Given the description of an element on the screen output the (x, y) to click on. 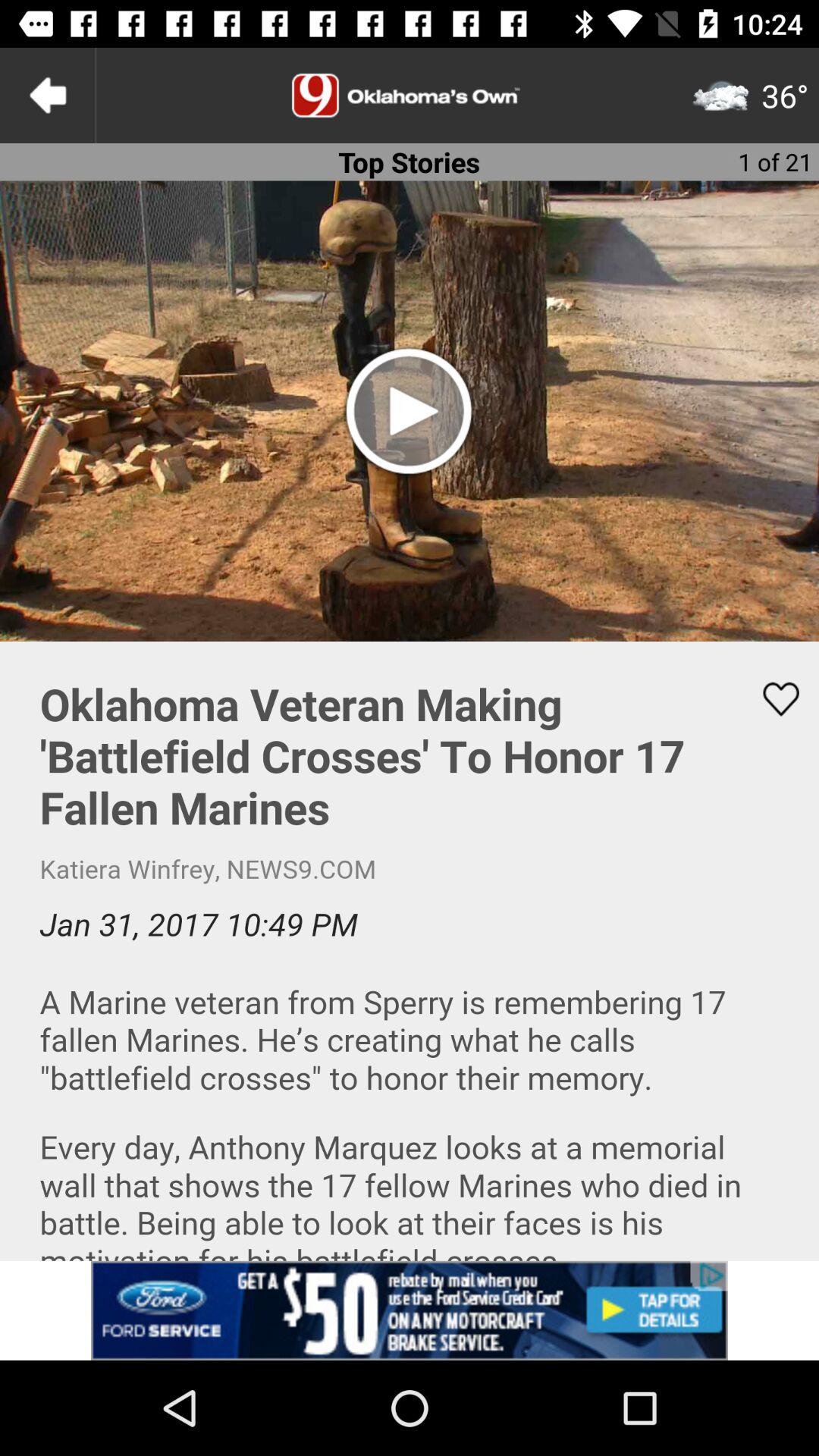
click arrow to go back to previous page (47, 95)
